Given the description of an element on the screen output the (x, y) to click on. 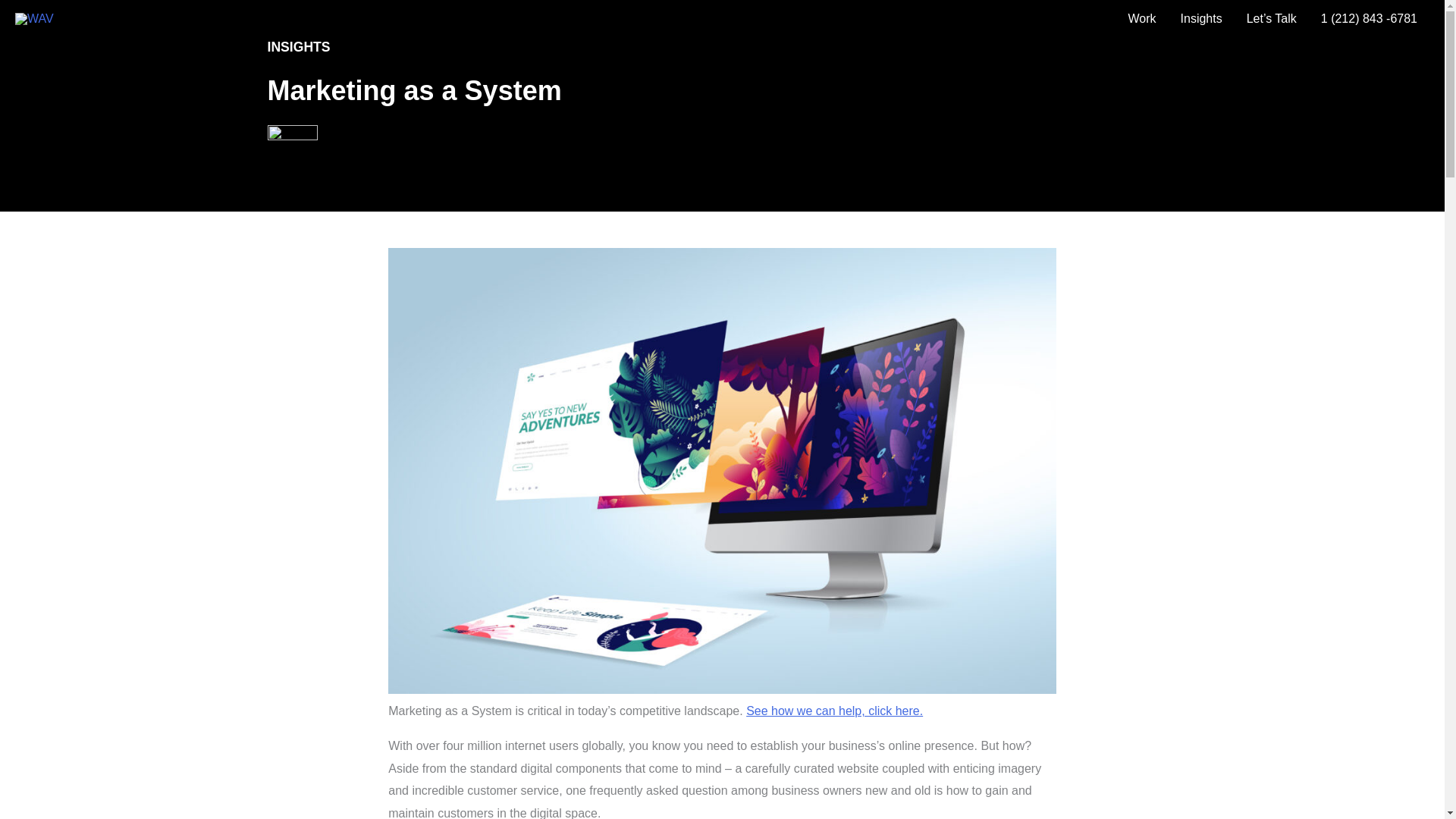
Insights (1201, 17)
Work (1141, 17)
See how we can help, click here. (834, 710)
